Given the description of an element on the screen output the (x, y) to click on. 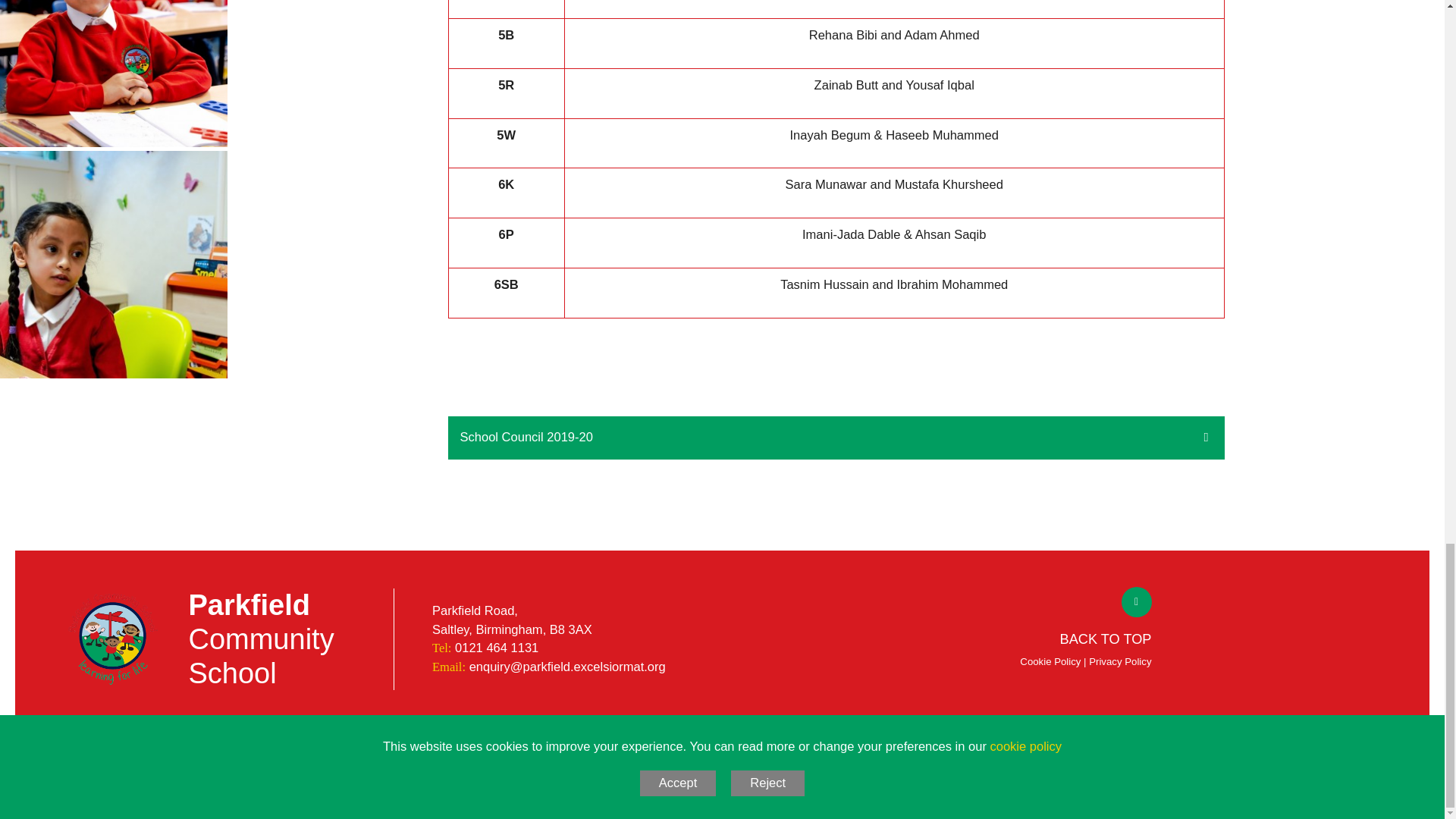
BACK TO TOP (1085, 639)
